Given the description of an element on the screen output the (x, y) to click on. 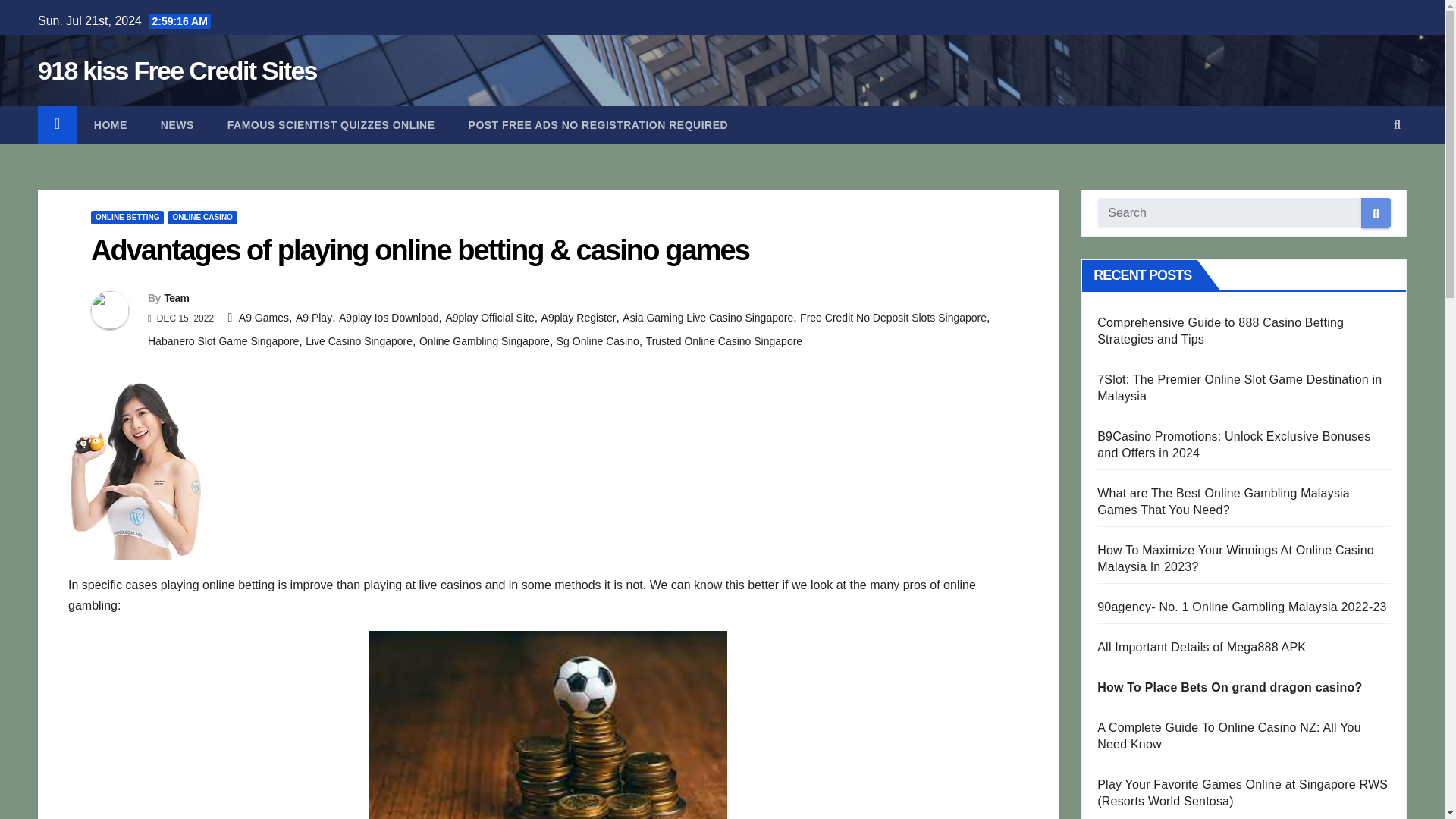
HOME (110, 125)
Trusted Online Casino Singapore (724, 340)
Free Credit No Deposit Slots Singapore (893, 317)
Online Gambling Singapore (484, 340)
A9 Play (313, 317)
Asia Gaming Live Casino Singapore (708, 317)
918 kiss Free Credit Sites (177, 70)
A9play Ios Download (389, 317)
FAMOUS SCIENTIST QUIZZES ONLINE (331, 125)
Habanero Slot Game Singapore (223, 340)
Team (176, 297)
Home (110, 125)
NEWS (177, 125)
A9play Register (578, 317)
A9 Games (263, 317)
